Given the description of an element on the screen output the (x, y) to click on. 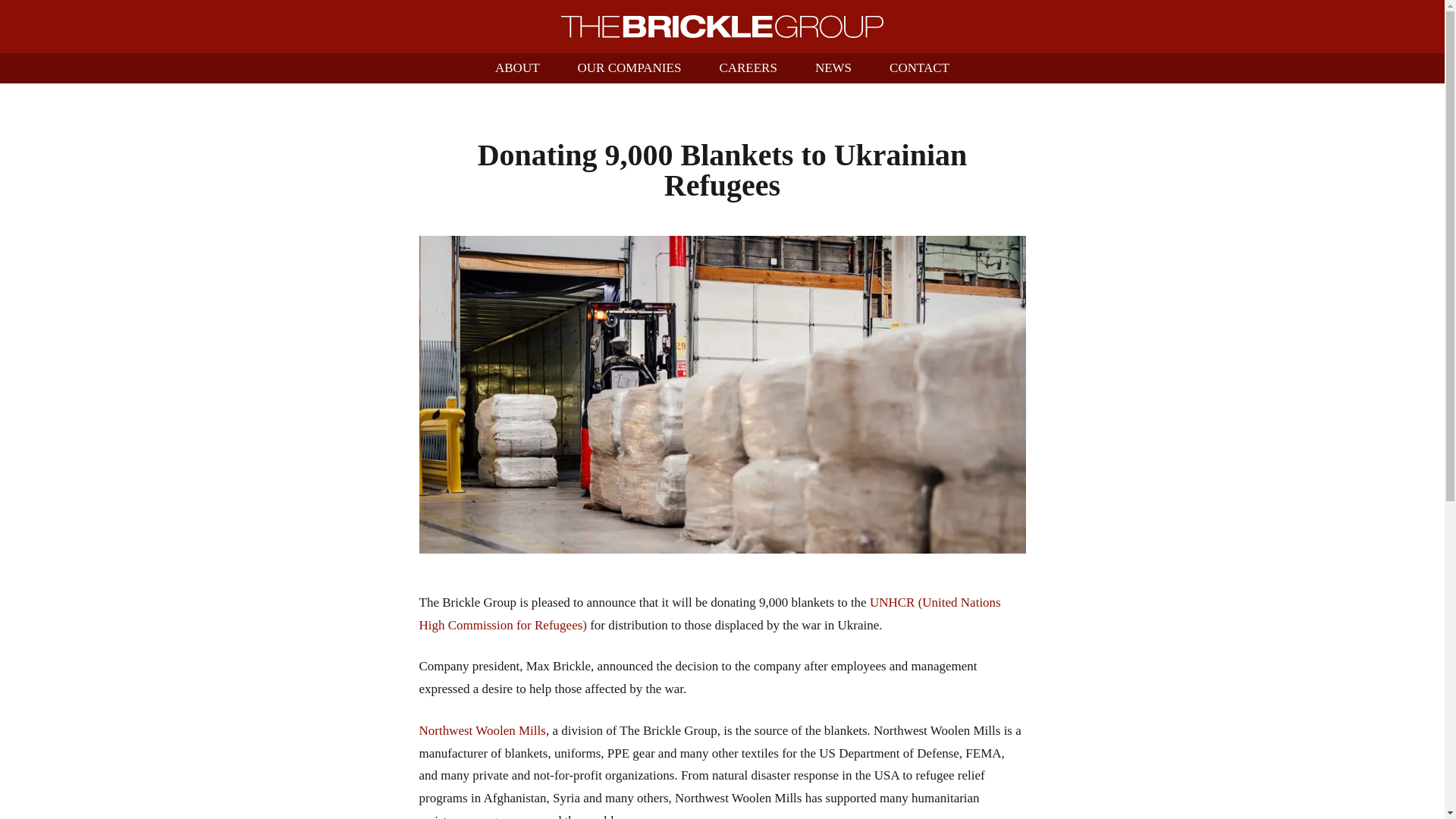
CAREERS (748, 68)
OUR COMPANIES (629, 68)
NEWS (833, 68)
CONTACT (919, 68)
Northwest Woolen Mills (481, 730)
ABOUT (517, 68)
